Given the description of an element on the screen output the (x, y) to click on. 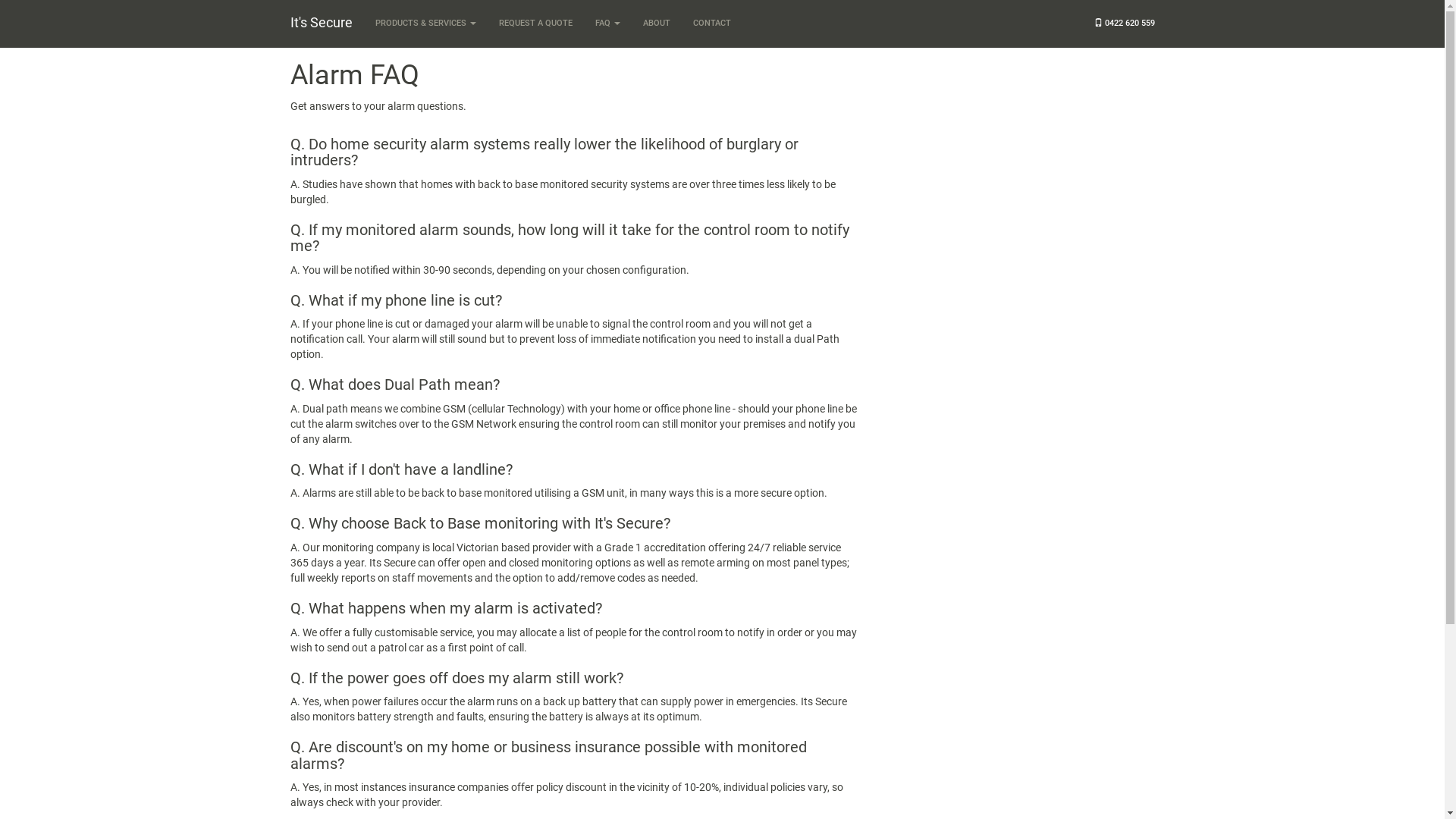
REQUEST A QUOTE Element type: text (534, 23)
ABOUT Element type: text (655, 23)
CONTACT Element type: text (710, 23)
It's Secure Element type: text (321, 22)
PRODUCTS & SERVICES Element type: text (425, 23)
FAQ Element type: text (607, 23)
0422 620 559 Element type: text (1124, 23)
